Given the description of an element on the screen output the (x, y) to click on. 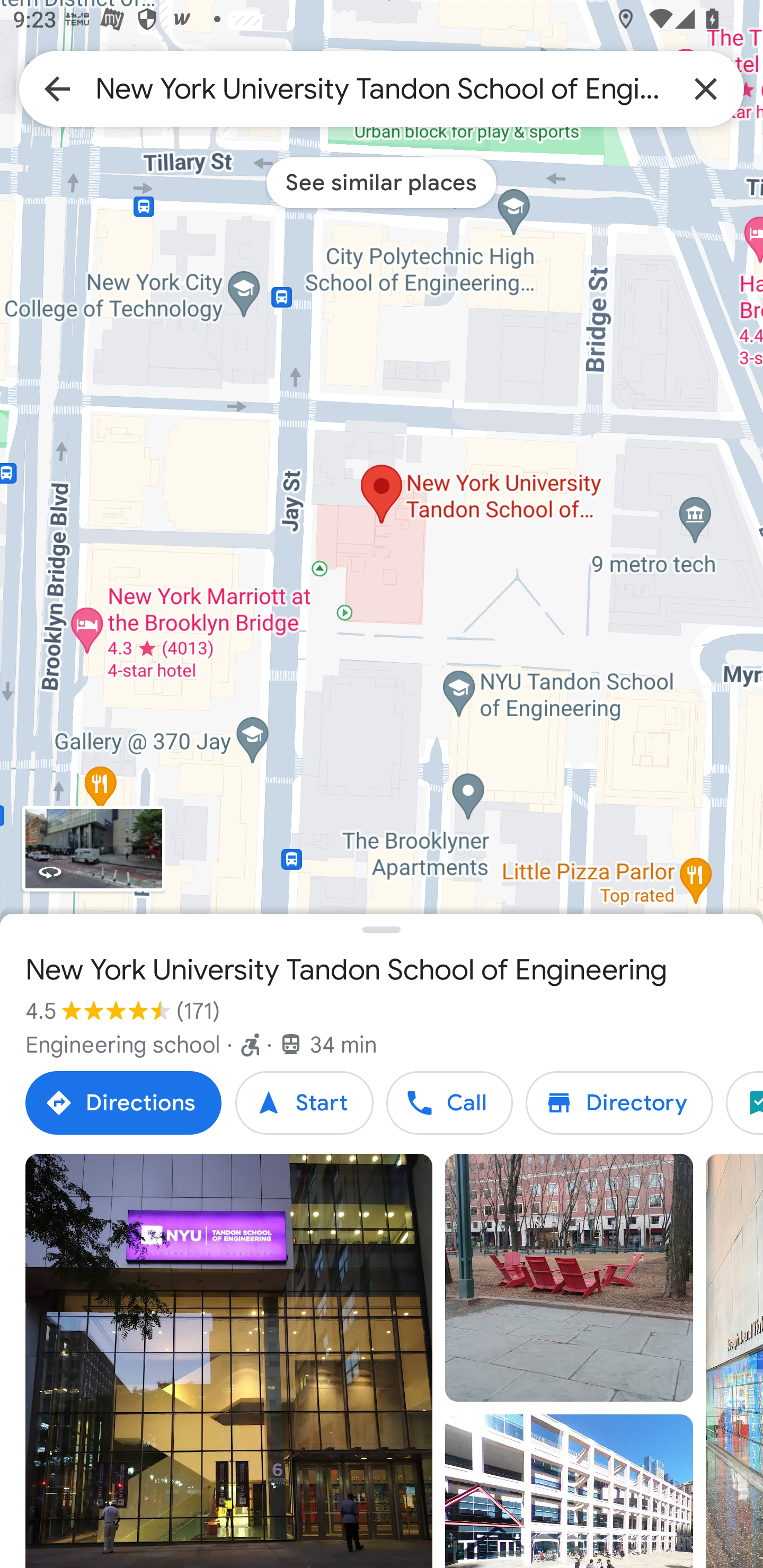
Back (57, 88)
Clear (705, 88)
See similar places (381, 182)
Start Start Start (304, 1102)
Directory Directory Directory (619, 1102)
Photo (228, 1361)
Photo (568, 1277)
Photo (568, 1491)
